Given the description of an element on the screen output the (x, y) to click on. 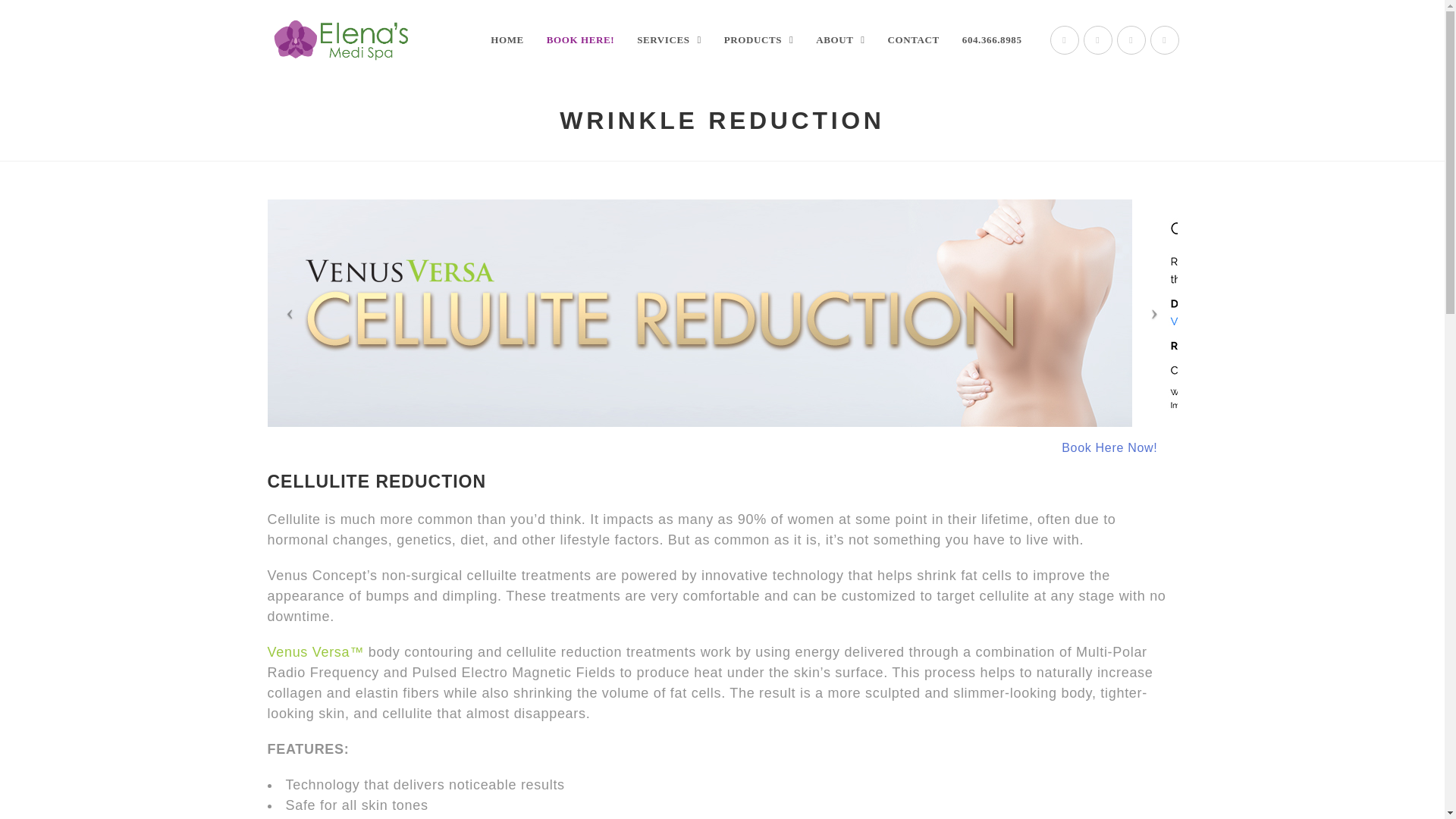
PRODUCTS (759, 39)
SERVICES (669, 39)
BOOK HERE! (580, 39)
HOME (507, 39)
